Given the description of an element on the screen output the (x, y) to click on. 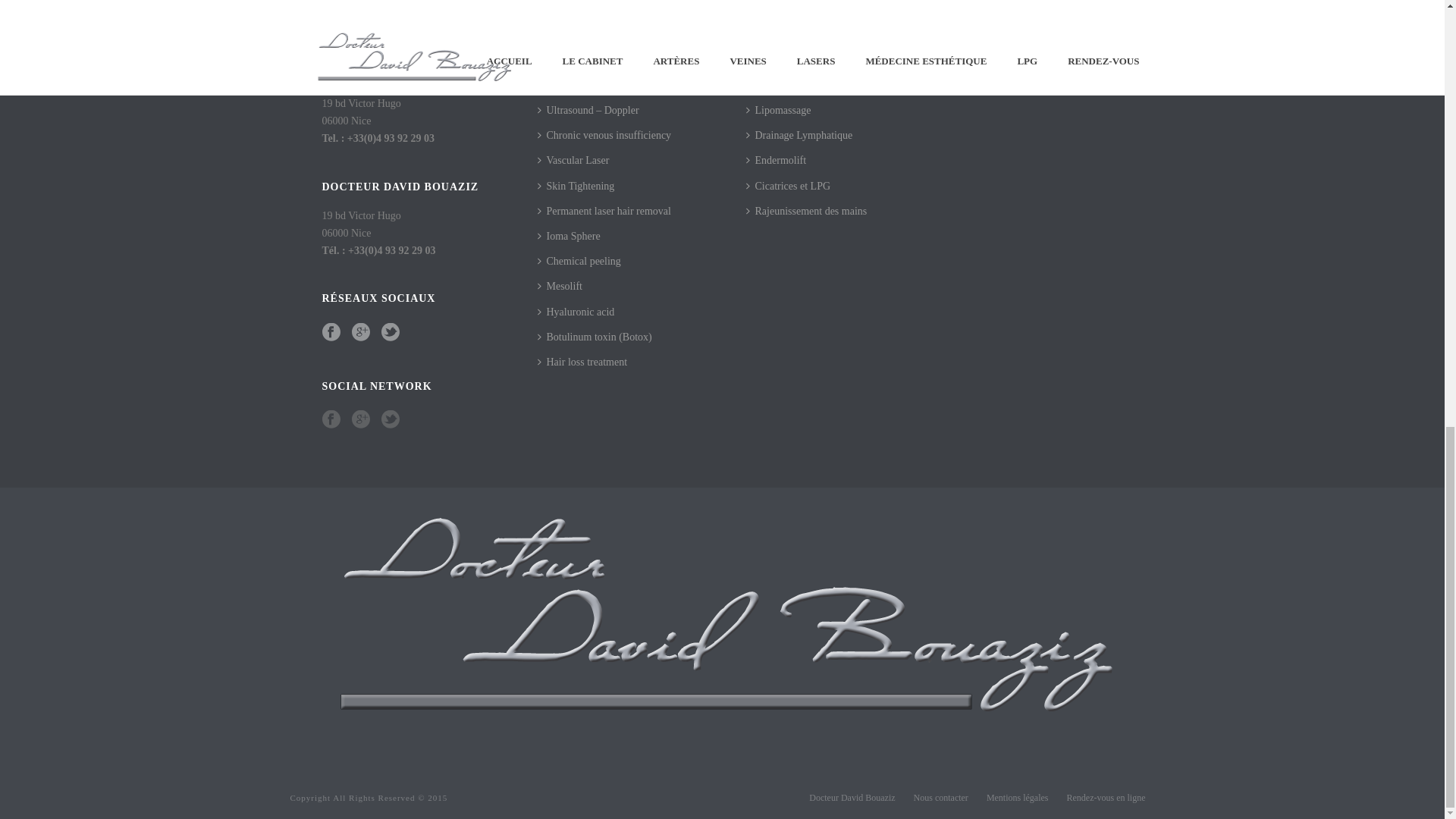
Follow Us on googleplus (360, 420)
Suivez-nous sur googleplus (360, 332)
Follow Us on facebook (330, 420)
Suivez-nous sur facebook (330, 332)
